Given the description of an element on the screen output the (x, y) to click on. 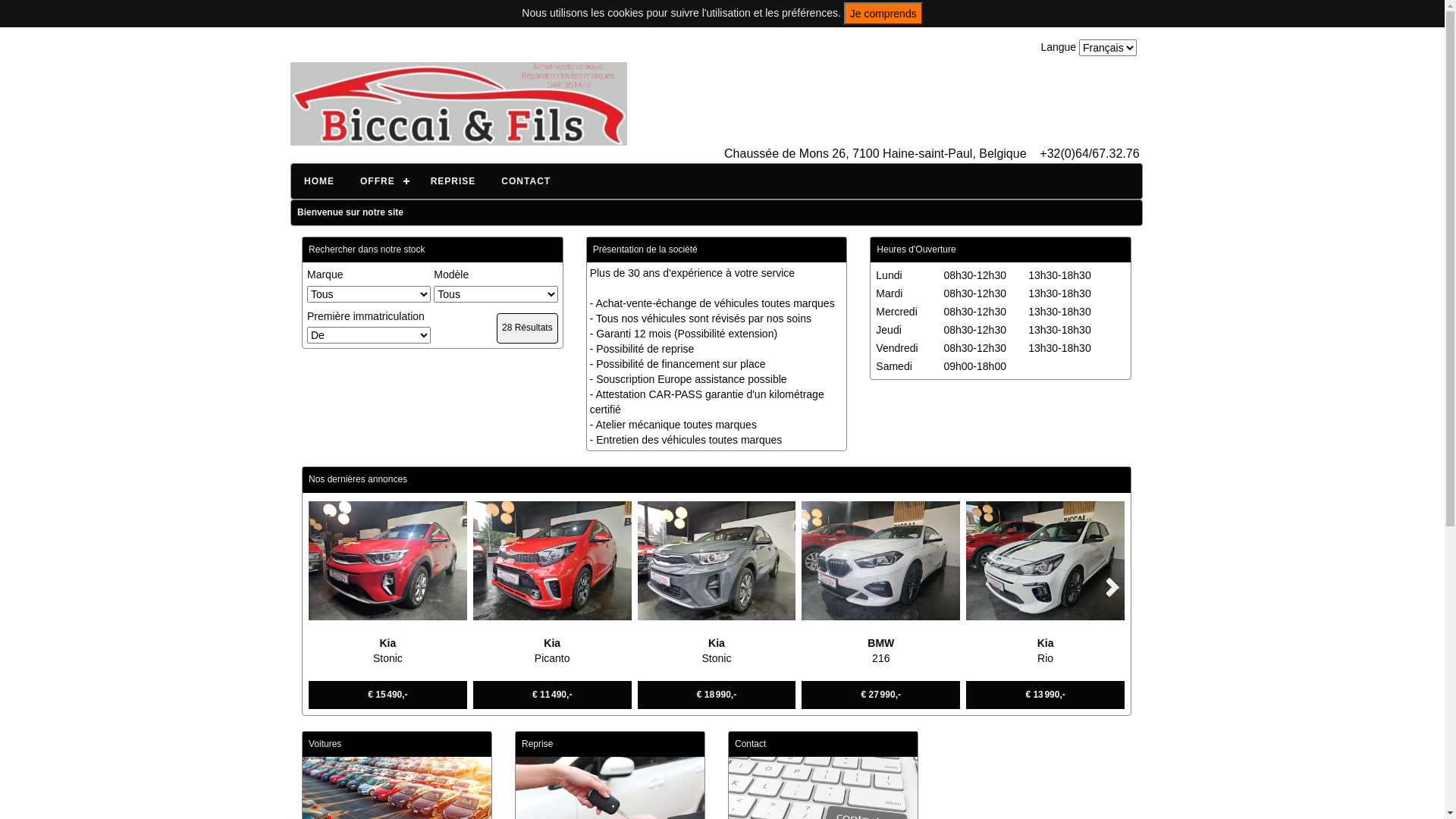
+32(0)64/67.32.76 Element type: text (1089, 154)
Je comprends Element type: text (883, 13)
REPRISE Element type: text (453, 180)
HOME Element type: text (319, 180)
CONTACT Element type: text (525, 180)
OFFRE Element type: text (382, 180)
